Given the description of an element on the screen output the (x, y) to click on. 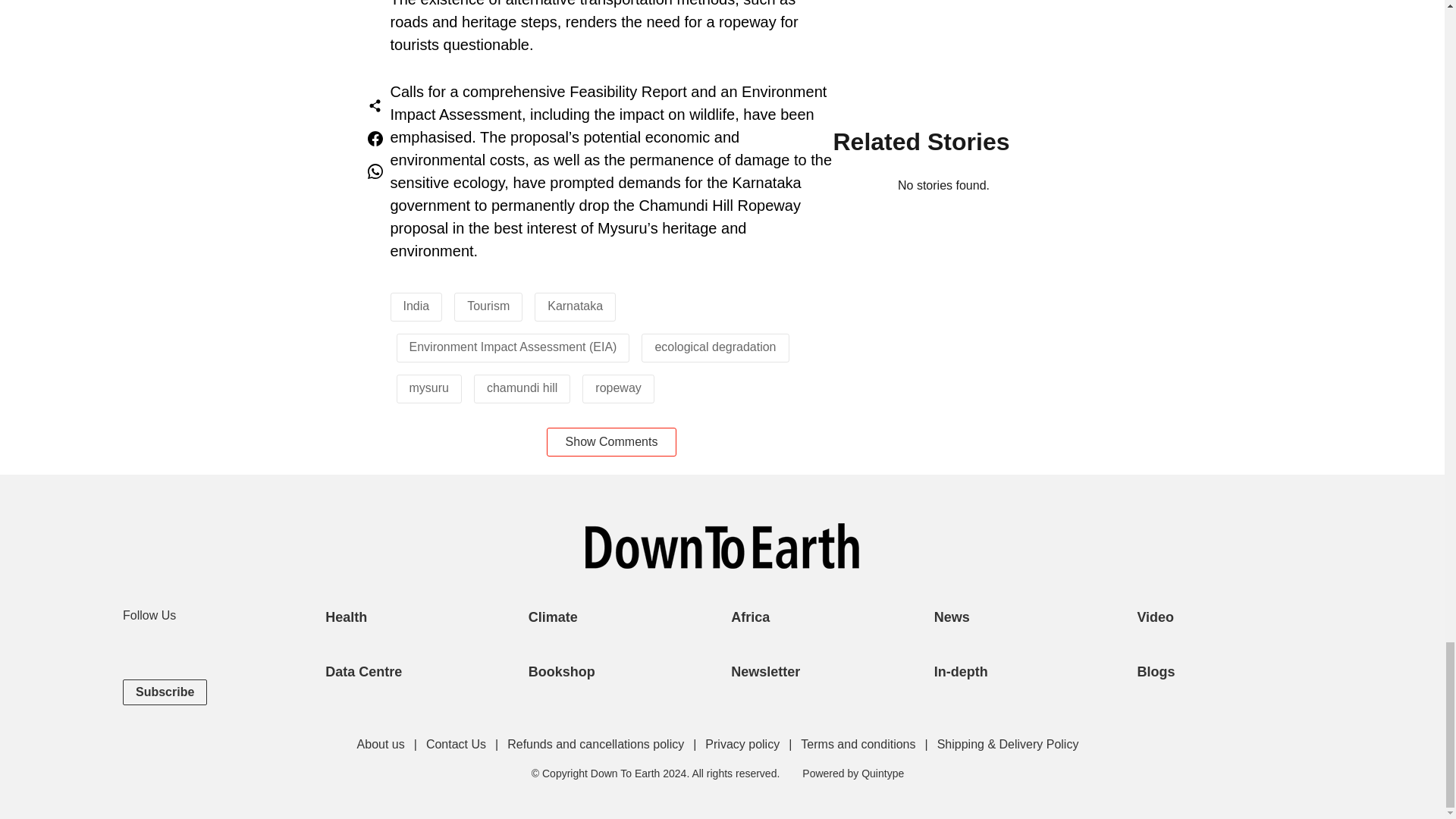
Tourism (488, 305)
India (416, 305)
